Given the description of an element on the screen output the (x, y) to click on. 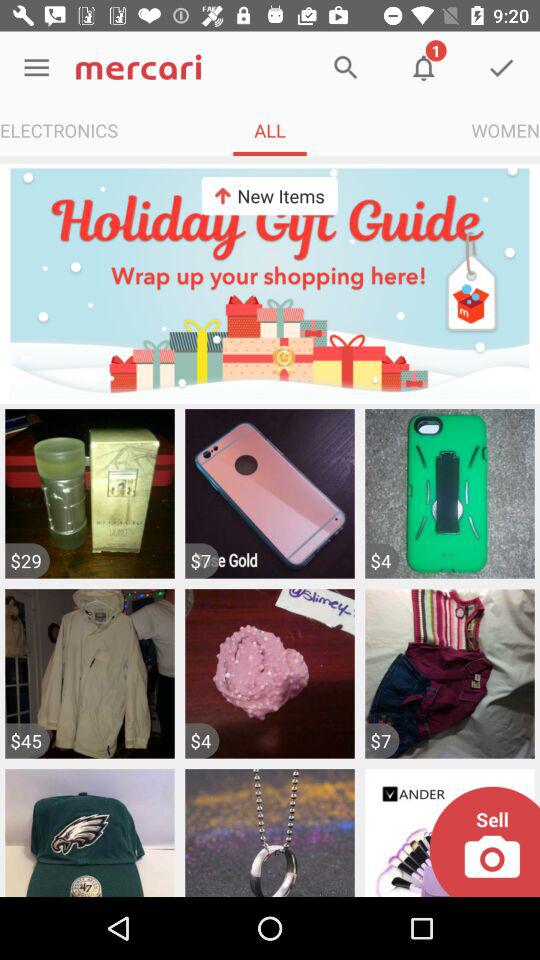
turn on item above the electronics (36, 67)
